Given the description of an element on the screen output the (x, y) to click on. 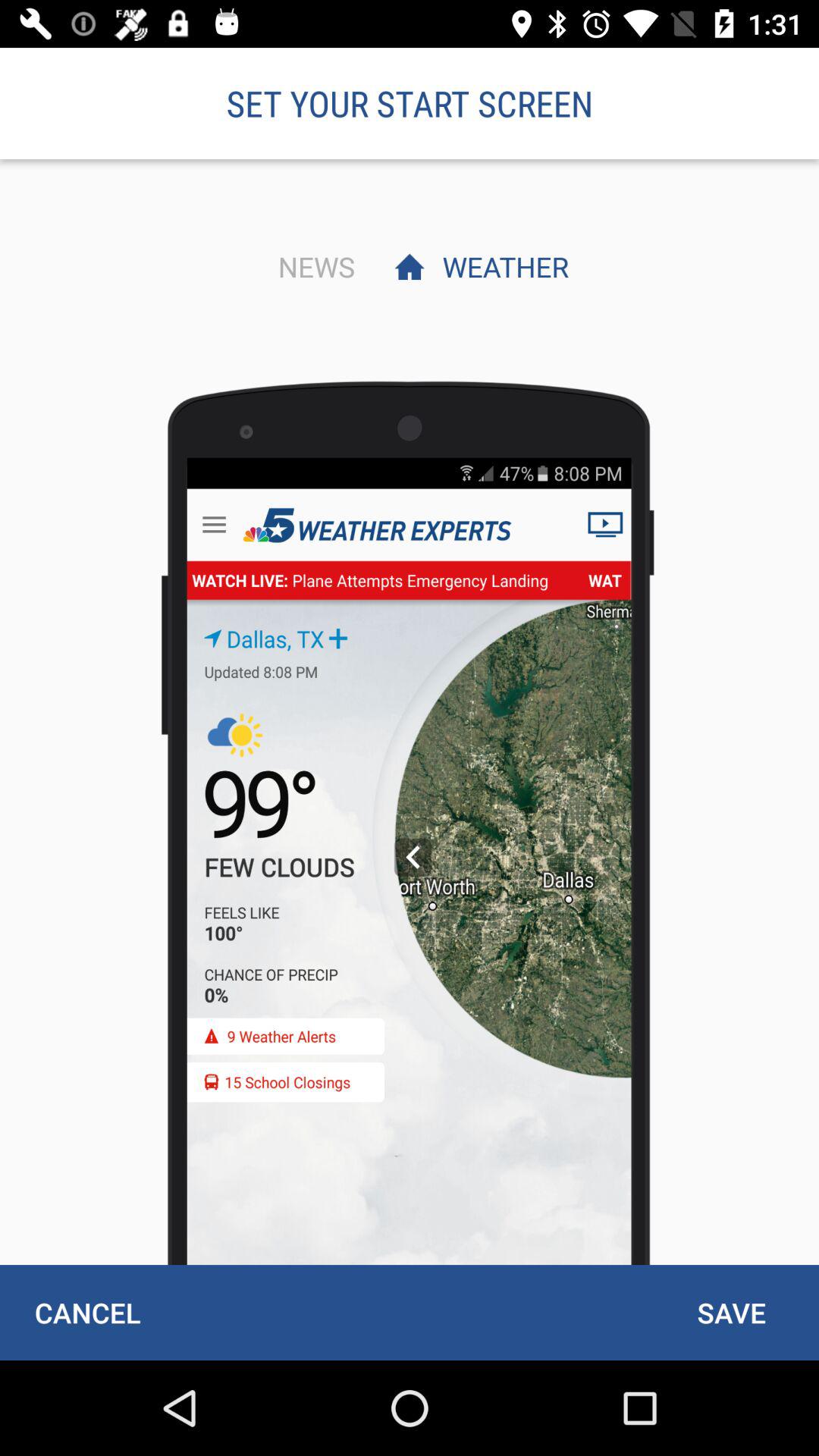
tap item next to the save icon (87, 1312)
